Given the description of an element on the screen output the (x, y) to click on. 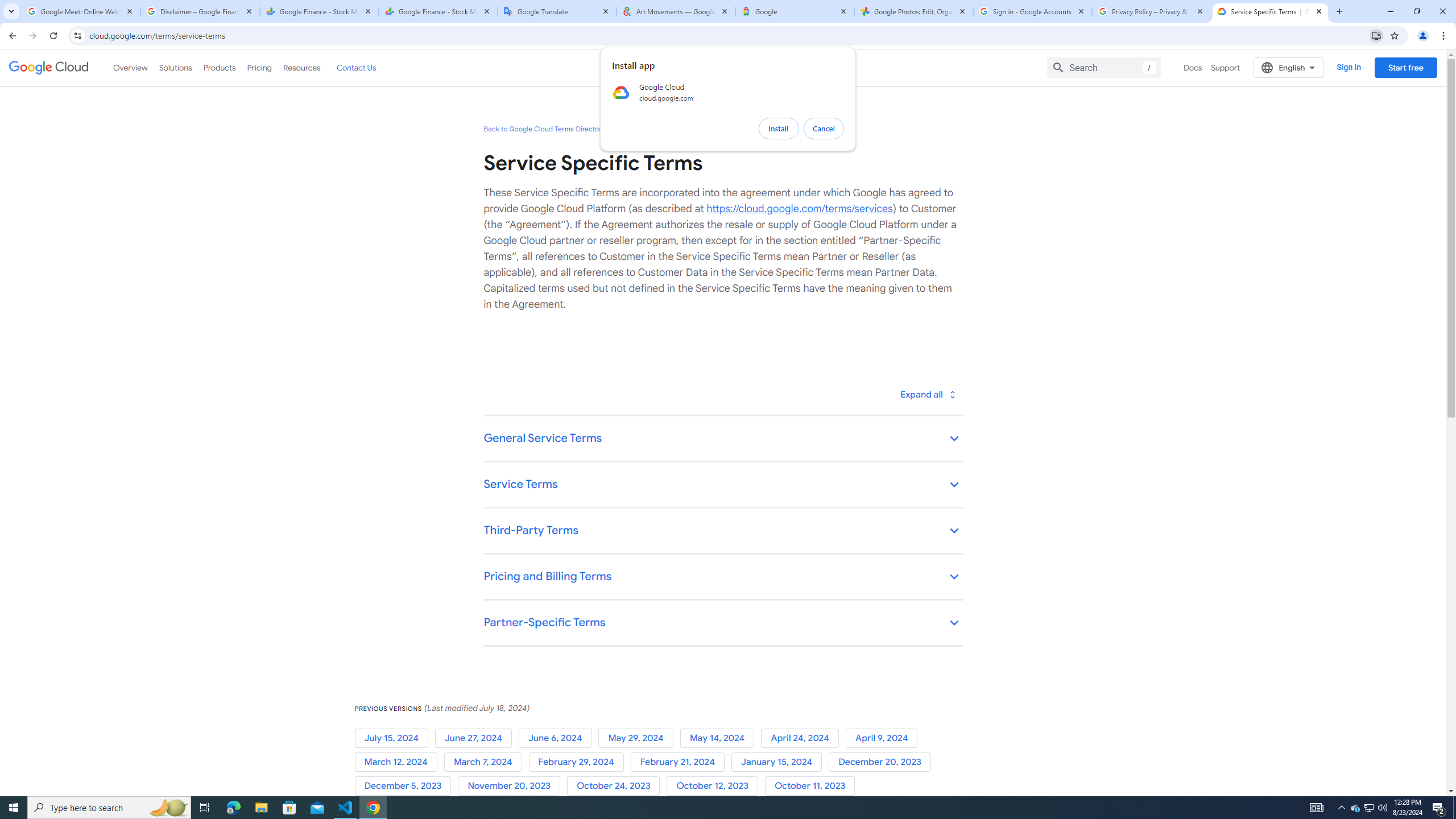
Docs (1192, 67)
Install Google Cloud (1376, 35)
Install (778, 128)
June 27, 2024 (475, 737)
March 7, 2024 (486, 761)
Start free (1405, 67)
Resources (301, 67)
April 24, 2024 (803, 737)
